Given the description of an element on the screen output the (x, y) to click on. 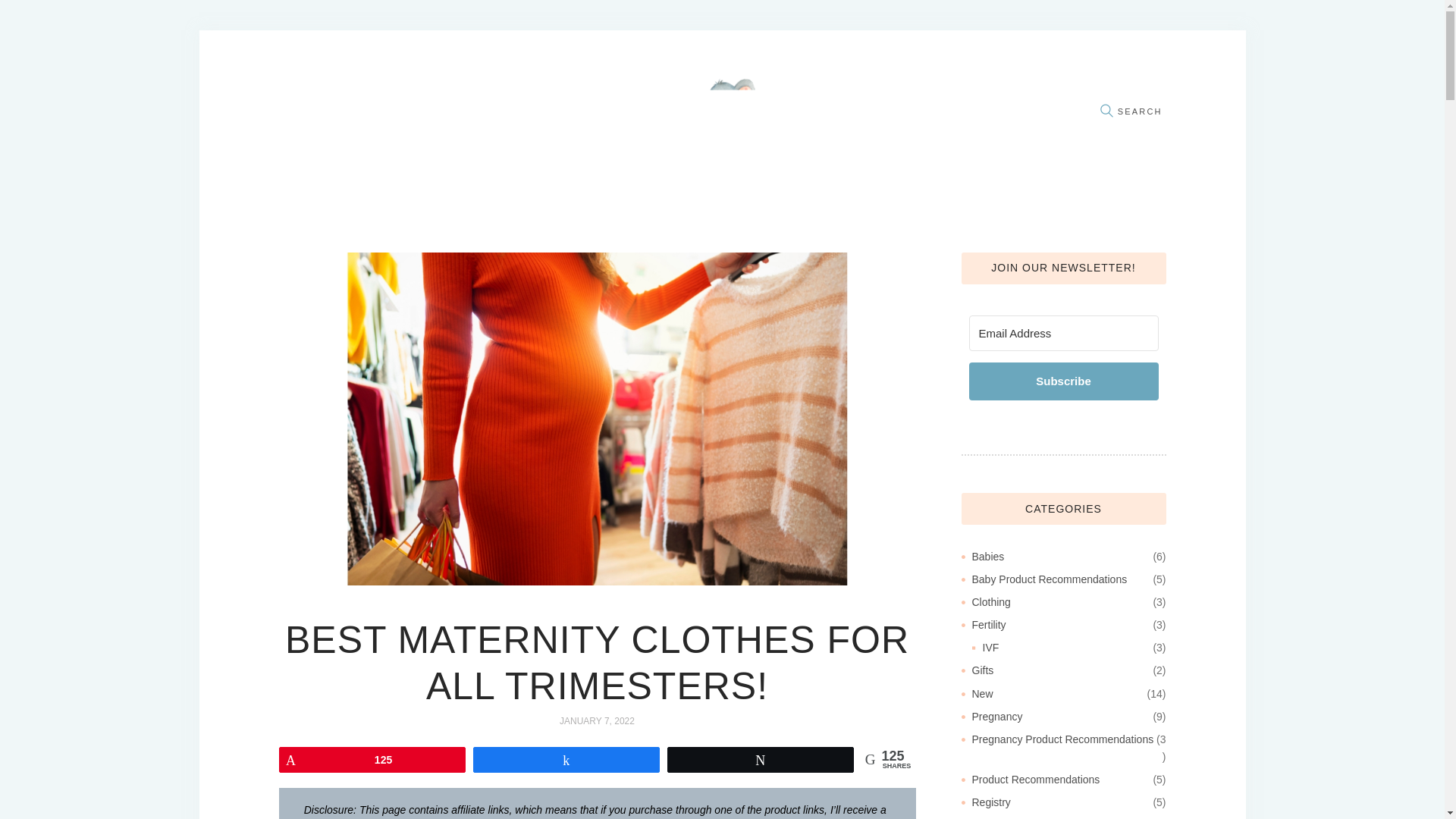
125 (371, 758)
